Given the description of an element on the screen output the (x, y) to click on. 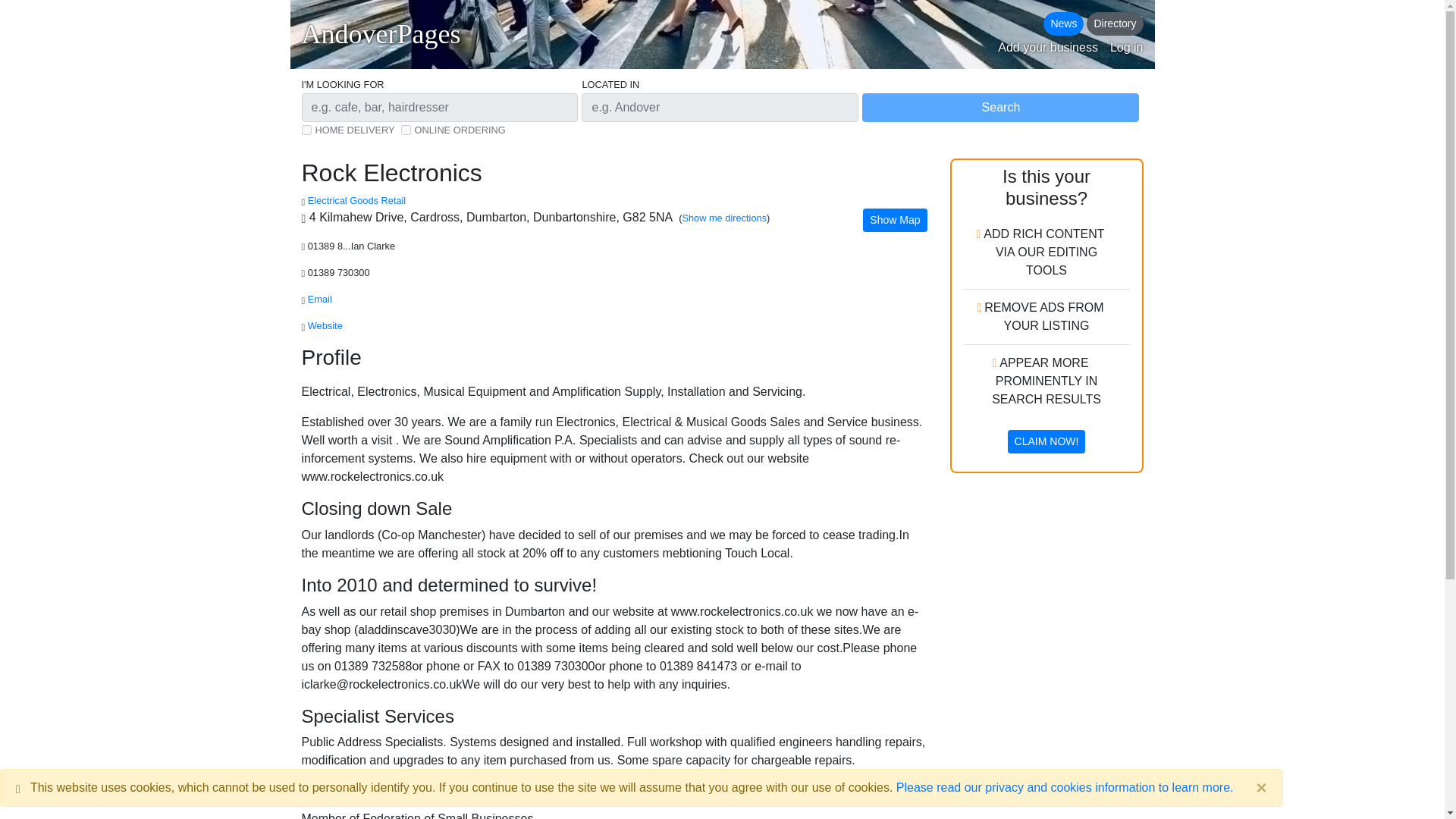
Log in (1125, 47)
News (1063, 24)
Email (319, 298)
click to show number (352, 245)
on (306, 130)
01389 8...Ian Clarke (352, 245)
Show me directions (724, 217)
click to show number (339, 272)
Search (999, 107)
AndoverPages (381, 34)
